Given the description of an element on the screen output the (x, y) to click on. 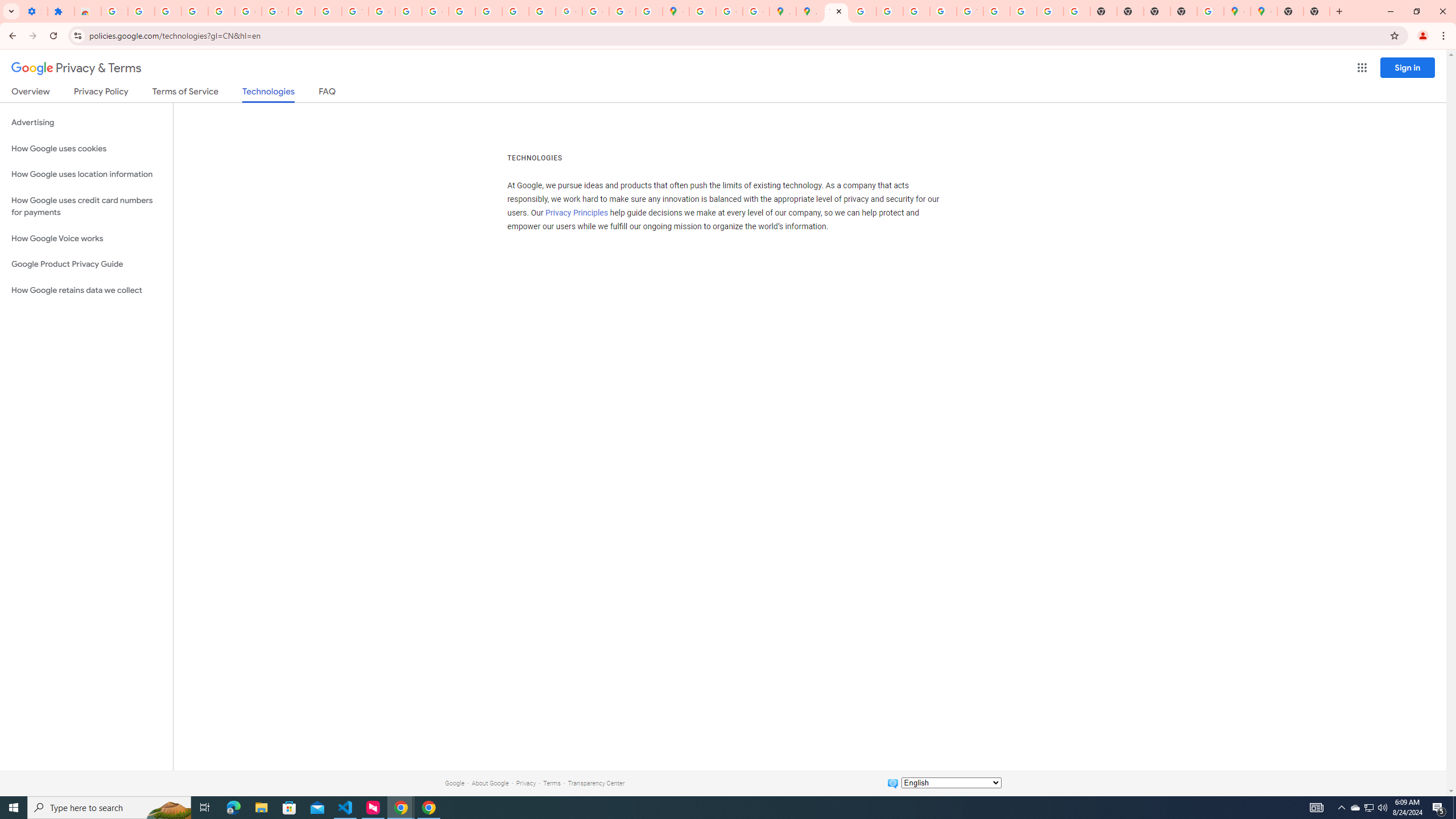
How Google uses location information (86, 174)
Google Maps (1236, 11)
Privacy & Terms (76, 68)
New Tab (1338, 11)
View site information (77, 35)
Sign in - Google Accounts (221, 11)
Advertising (86, 122)
